Given the description of an element on the screen output the (x, y) to click on. 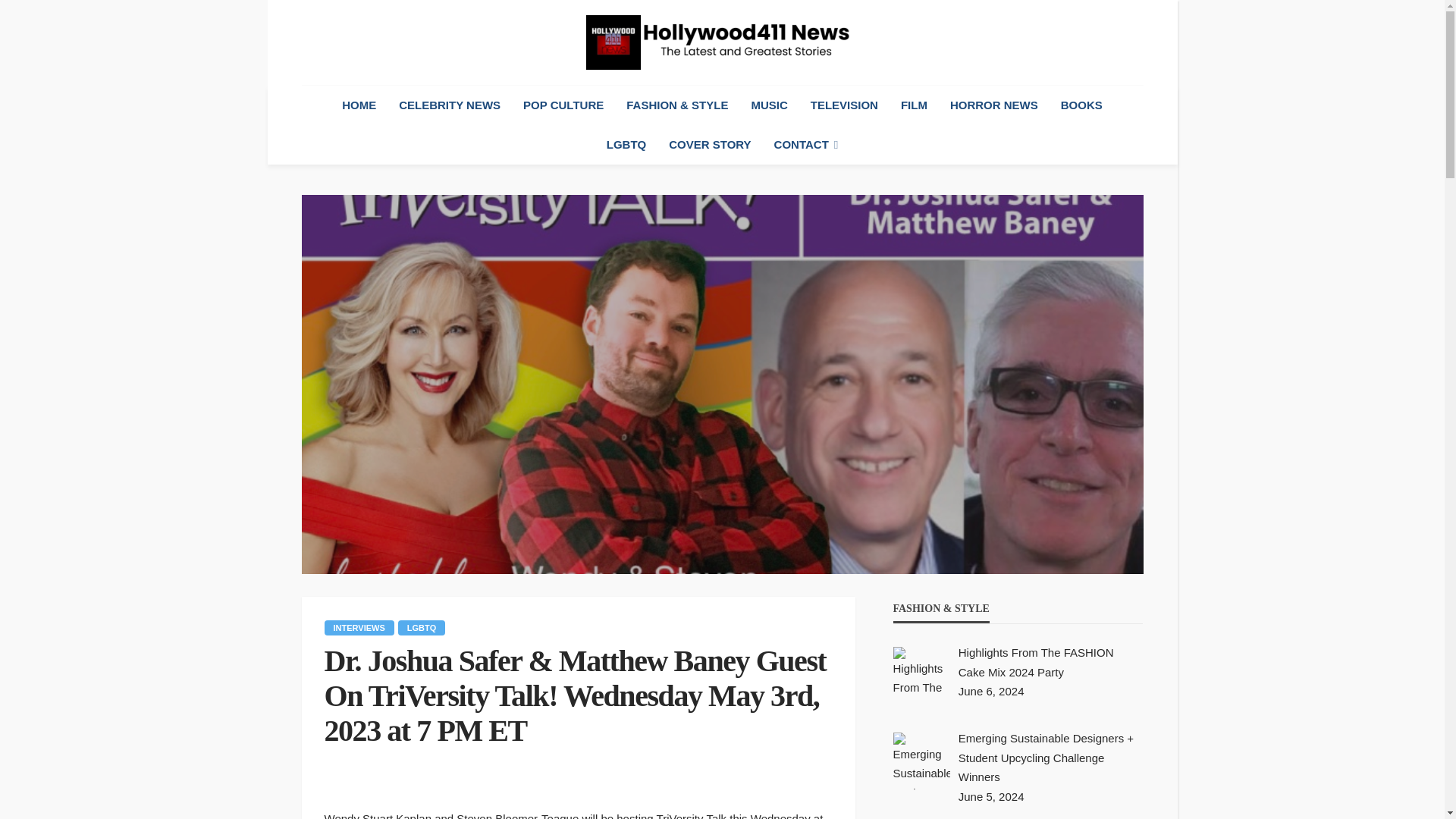
FILM (914, 105)
LGBTQ (421, 627)
BOOKS (1081, 105)
TELEVISION (844, 105)
HORROR NEWS (994, 105)
Interviews (359, 627)
CONTACT (806, 144)
MUSIC (768, 105)
LGBTQ (626, 144)
CELEBRITY NEWS (449, 105)
LGBTQ (421, 627)
POP CULTURE (563, 105)
COVER STORY (709, 144)
INTERVIEWS (359, 627)
Hollywood411 News (722, 42)
